Given the description of an element on the screen output the (x, y) to click on. 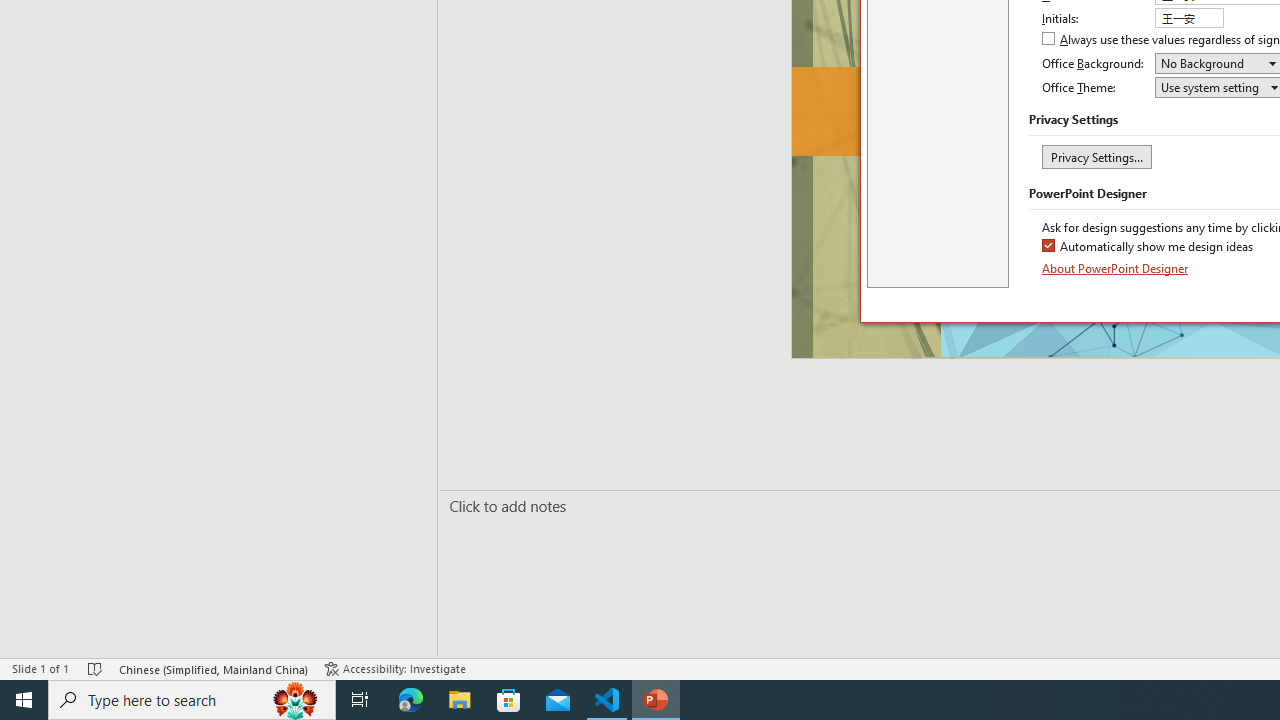
Start (24, 699)
Microsoft Store (509, 699)
PowerPoint - 1 running window (656, 699)
Task View (359, 699)
Type here to search (191, 699)
File Explorer (460, 699)
About PowerPoint Designer (1116, 268)
Privacy Settings... (1096, 156)
Automatically show me design ideas (1148, 247)
Initials (1188, 17)
Search highlights icon opens search home window (295, 699)
Visual Studio Code - 1 running window (607, 699)
